Given the description of an element on the screen output the (x, y) to click on. 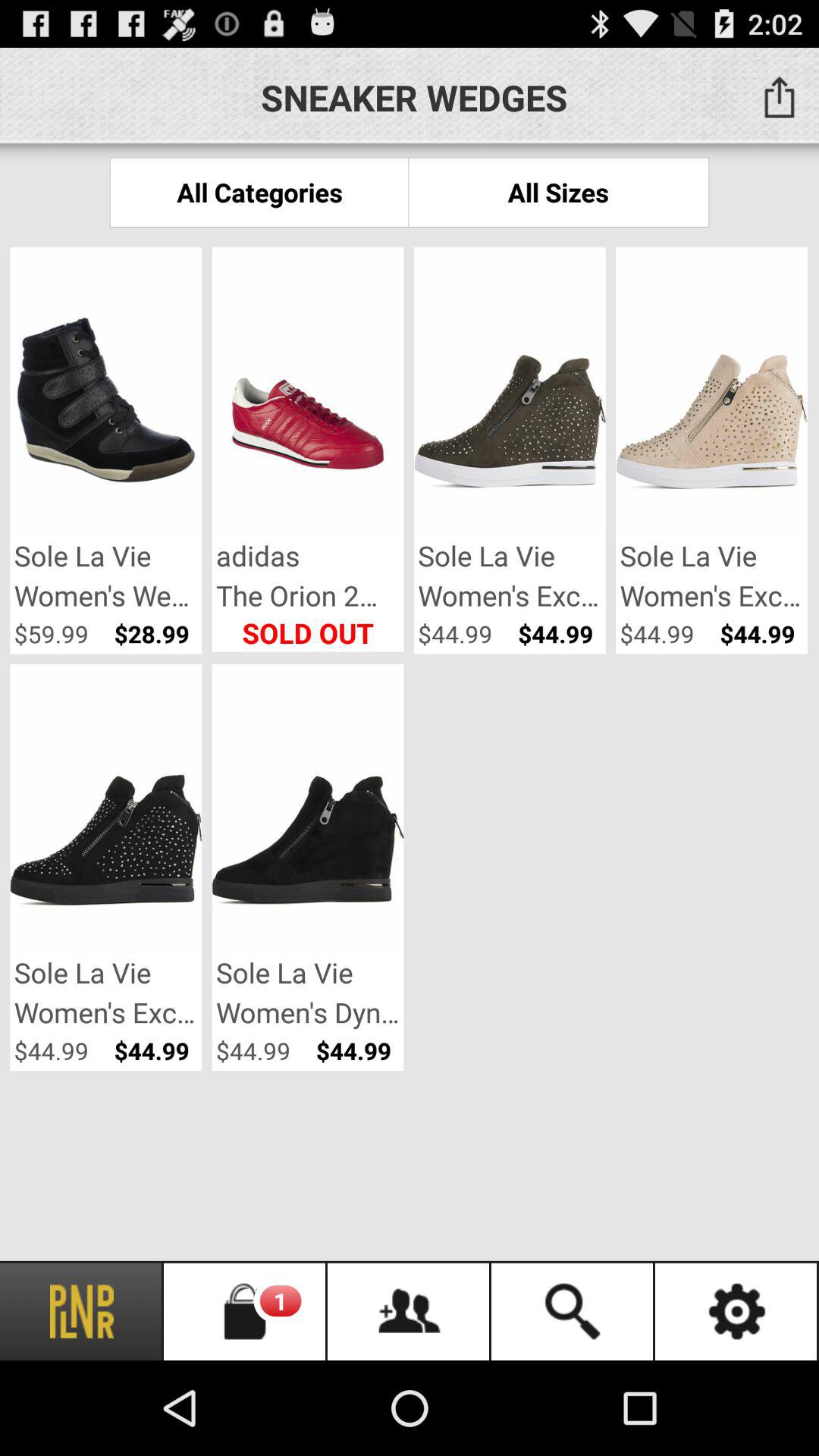
jump to the all categories item (259, 192)
